Given the description of an element on the screen output the (x, y) to click on. 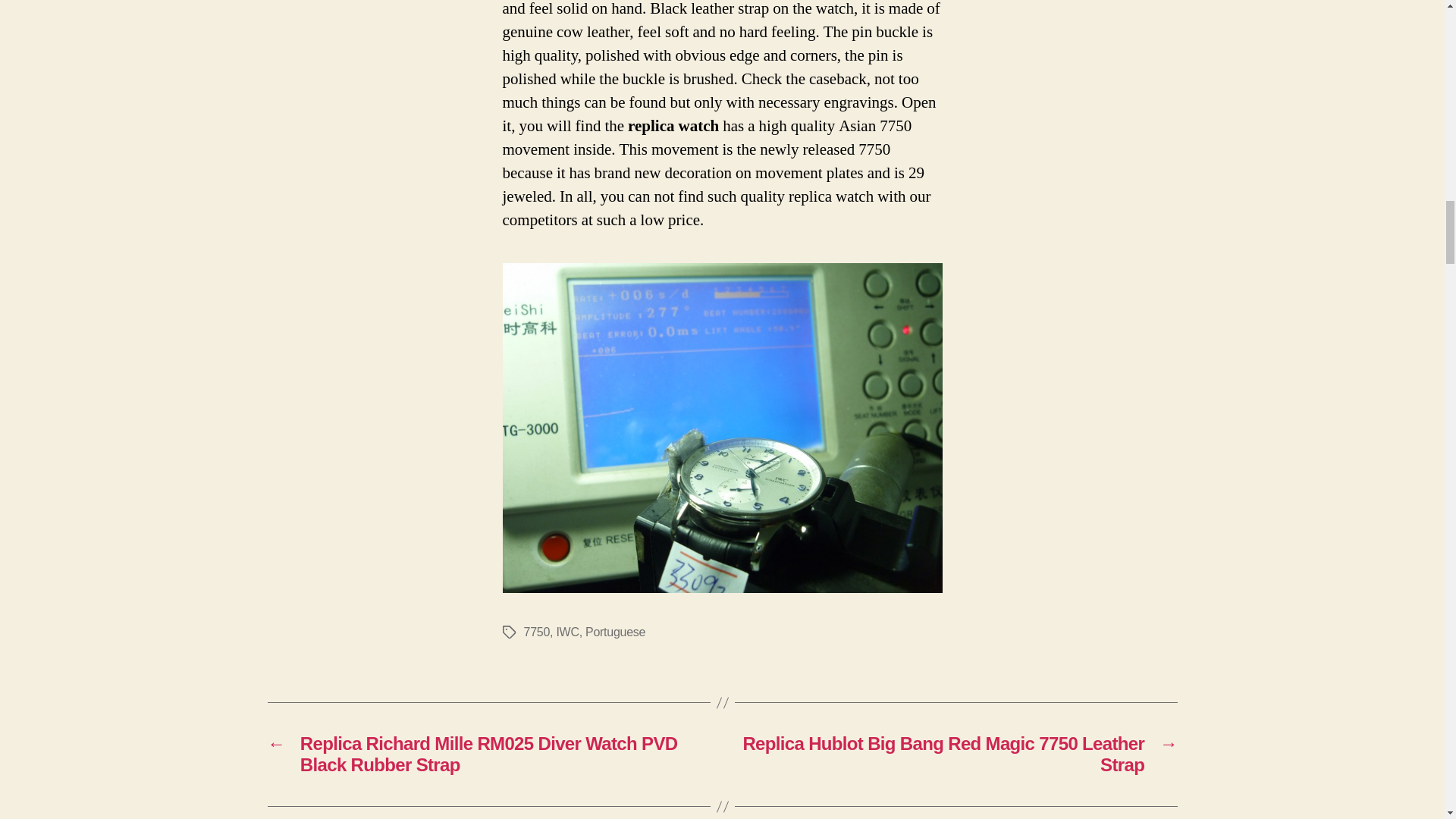
7750 (536, 631)
Portuguese (615, 631)
IWC (567, 631)
